Given the description of an element on the screen output the (x, y) to click on. 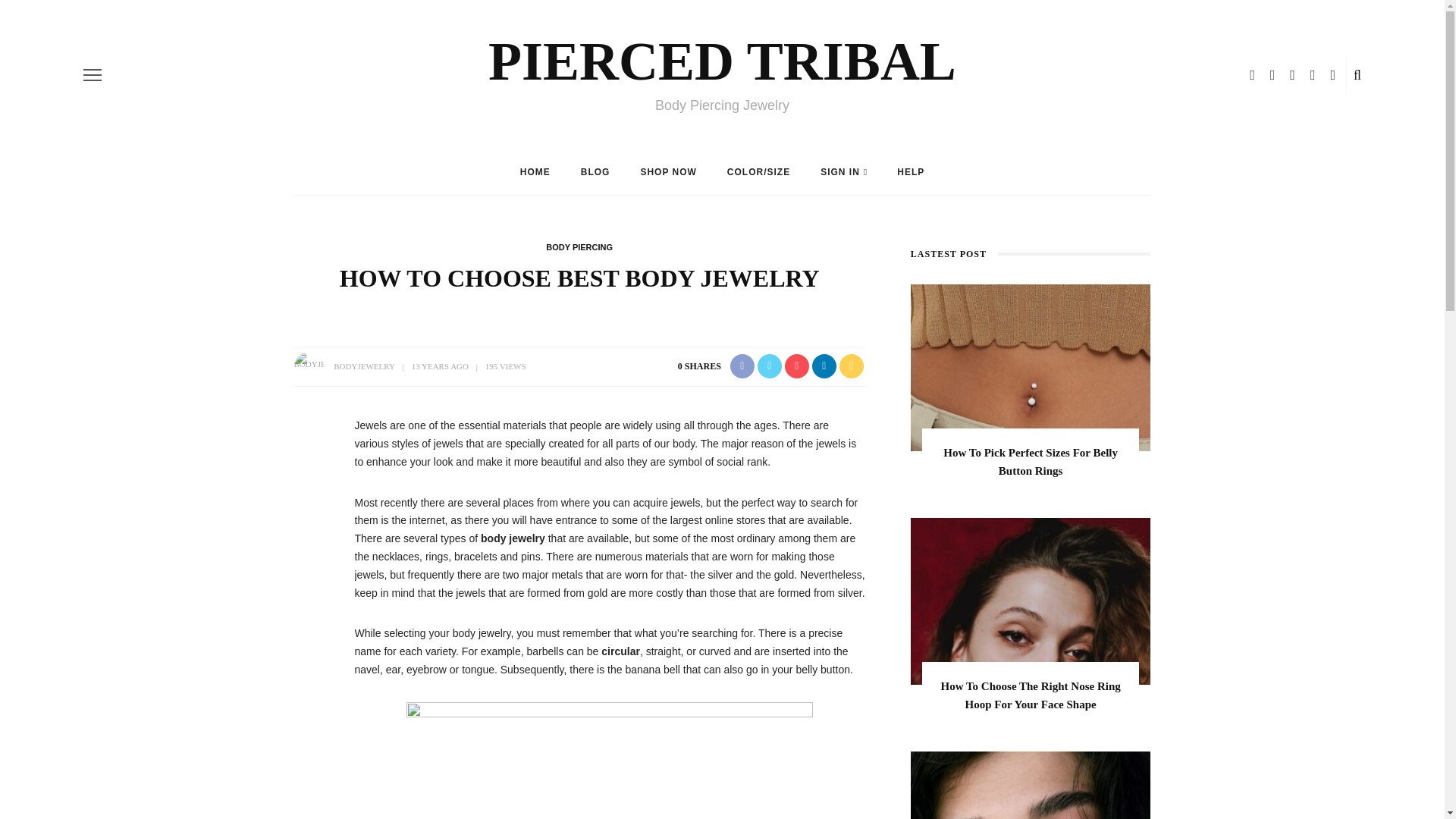
BODYJEWELRY (363, 366)
search (1356, 74)
bodyjewelry (609, 757)
Post by bodyjewelry (363, 366)
PIERCED TRIBAL (721, 61)
SHOP NOW (667, 171)
off canvas button (91, 75)
SIGN IN (843, 171)
How To Choose The Right Nose Ring Hoop For Your Face Shape (1030, 695)
HOME (535, 171)
How To Choose The Right Nose Ring Hoop For Your Face Shape (1031, 600)
HELP (910, 171)
BLOG (596, 171)
195 VIEWS (504, 366)
How To Pick Perfect Sizes For Belly Button Rings (1031, 367)
